Given the description of an element on the screen output the (x, y) to click on. 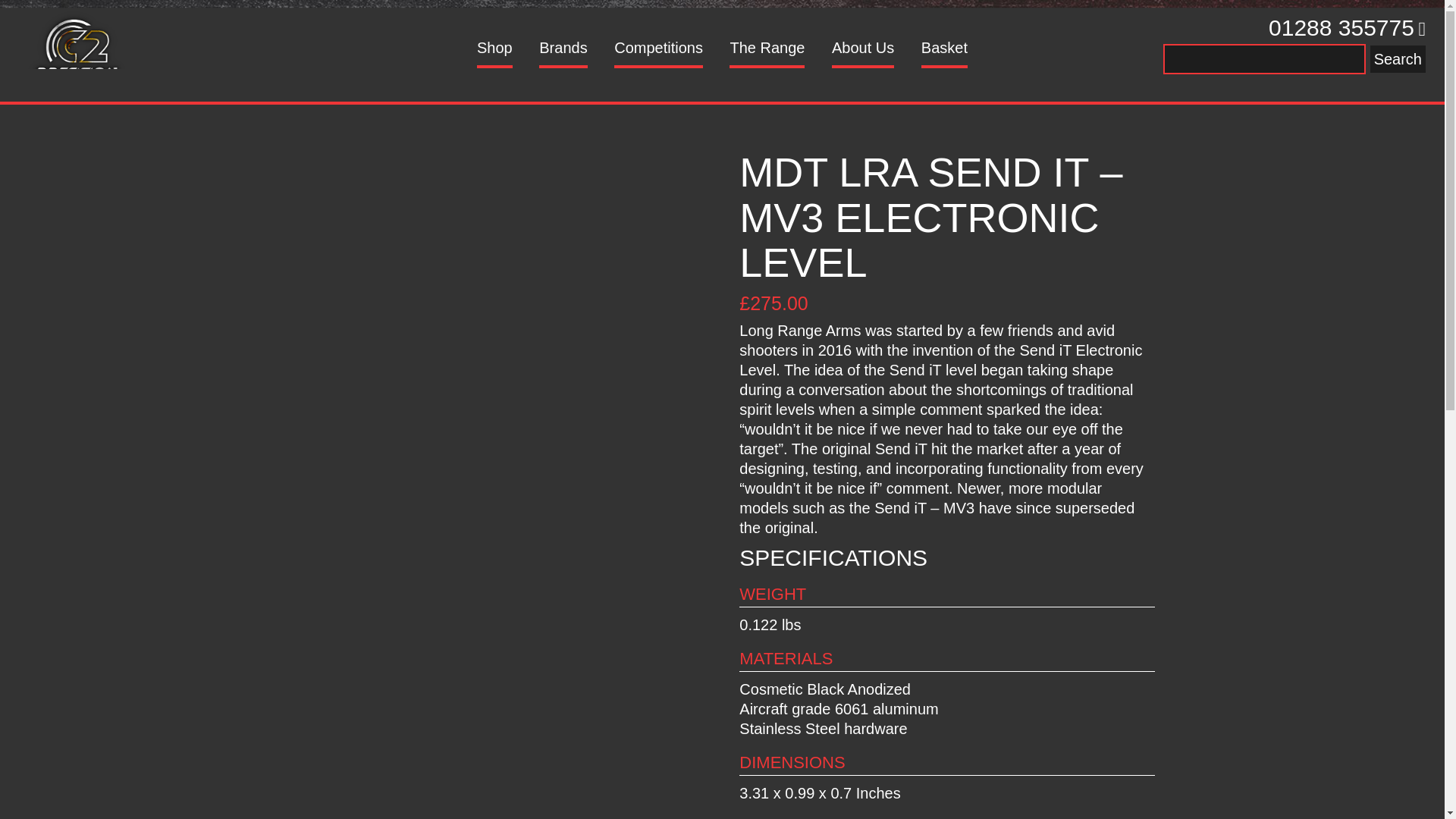
Search (1397, 58)
Shop (494, 52)
Brands (562, 52)
